Given the description of an element on the screen output the (x, y) to click on. 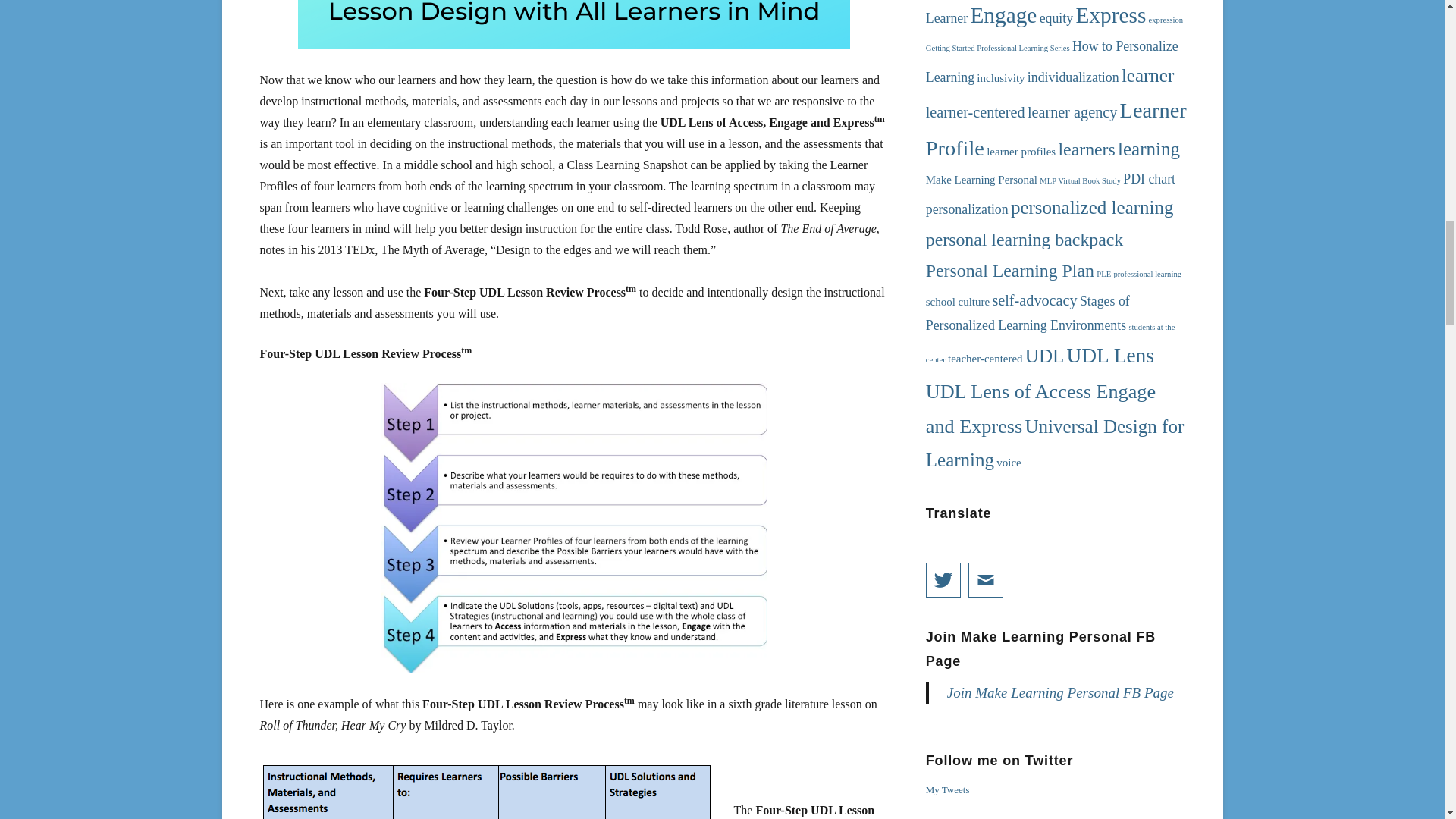
Twitter (943, 579)
Email (985, 579)
